Given the description of an element on the screen output the (x, y) to click on. 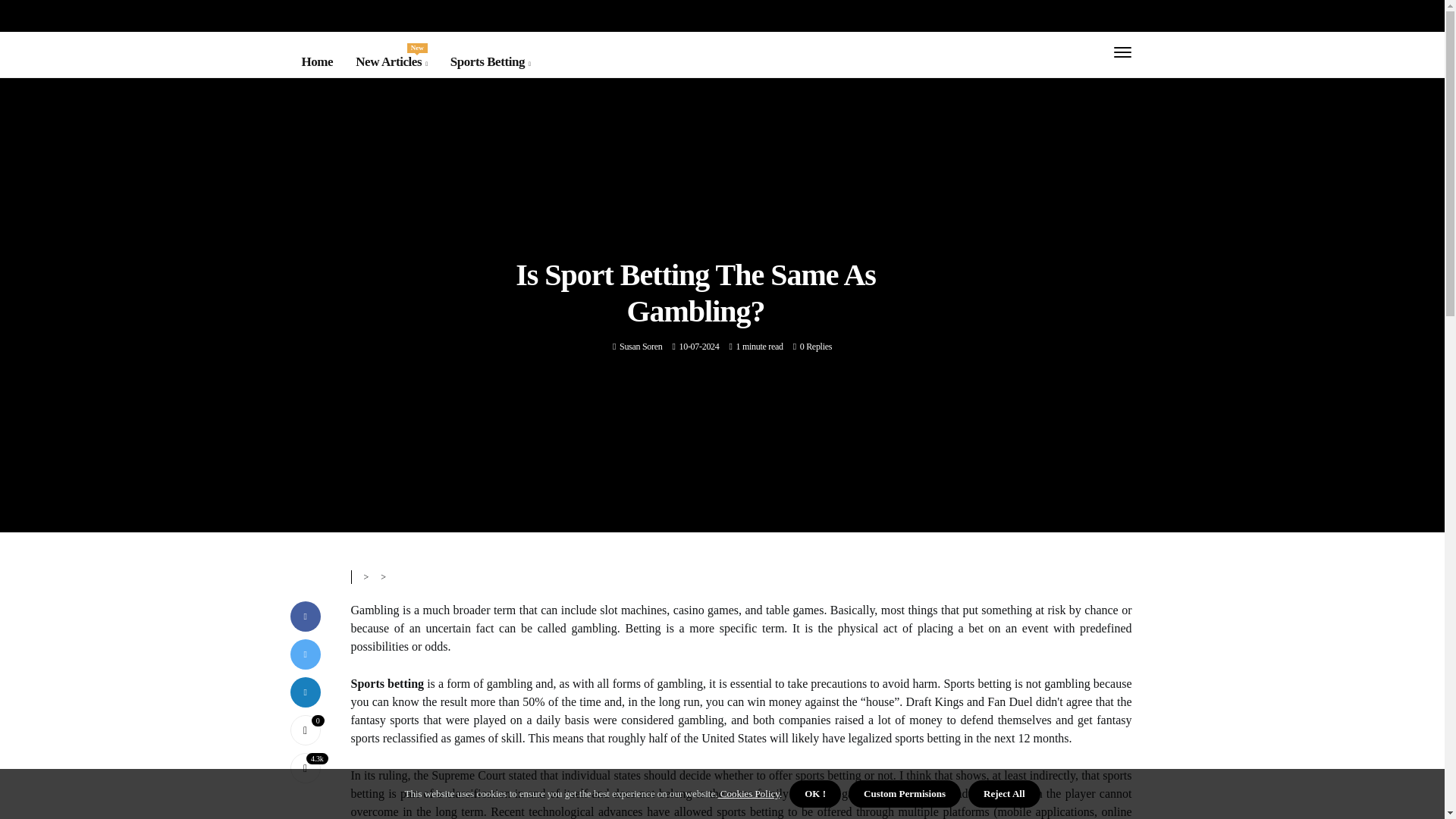
Sports Betting (490, 61)
Posts by Susan Soren (390, 61)
Like (641, 346)
